Given the description of an element on the screen output the (x, y) to click on. 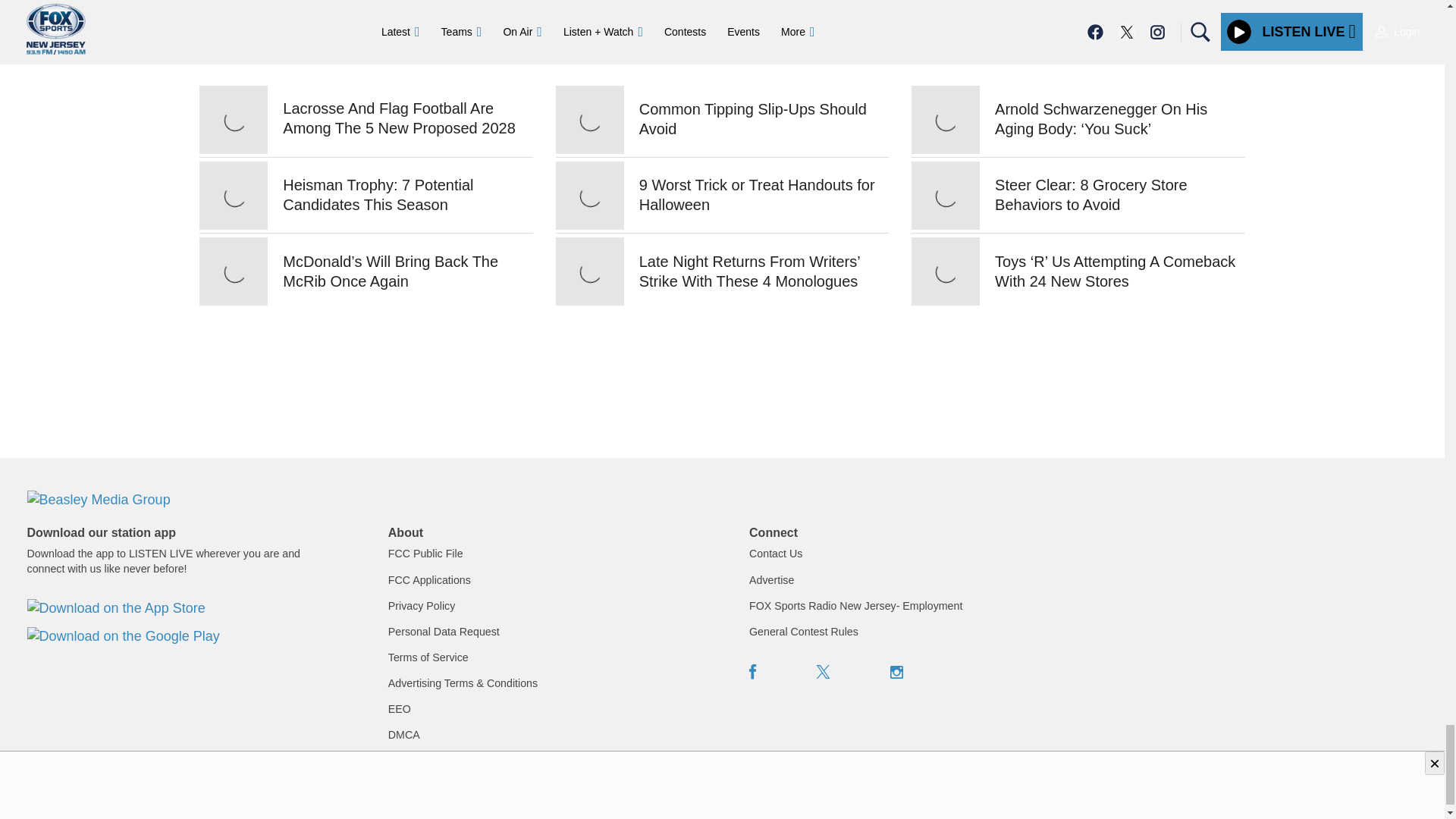
Twitter (823, 671)
Instagram (895, 671)
